Given the description of an element on the screen output the (x, y) to click on. 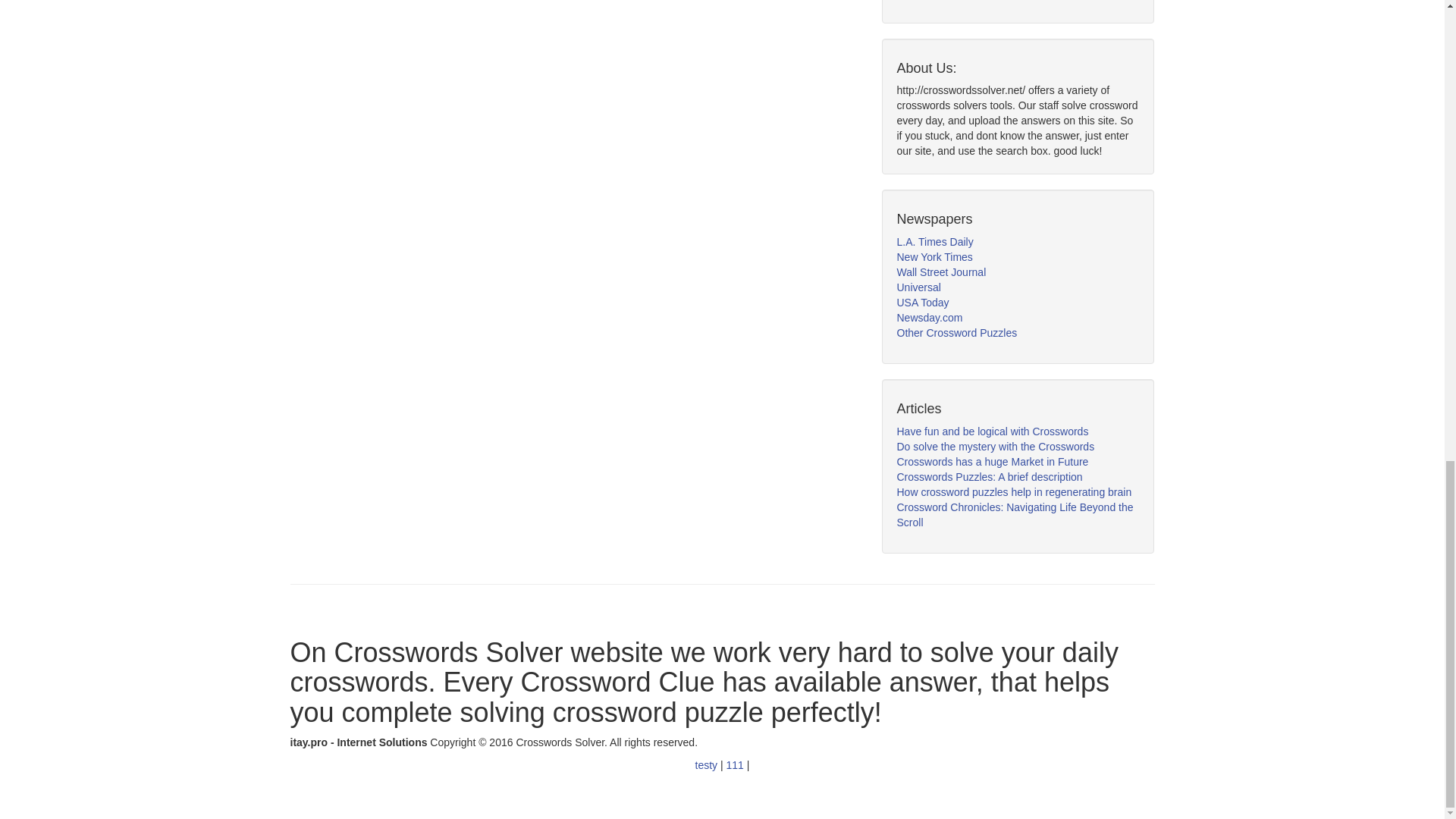
Crosswords Puzzles: A brief description (988, 476)
testy (707, 765)
Do solve the mystery with the Crosswords (995, 446)
Other Crossword Puzzles (956, 332)
How crossword puzzles help in regenerating brain (1013, 491)
Crosswords has a huge Market in Future (991, 461)
USA Today (922, 302)
Crossword Chronicles: Navigating Life Beyond the Scroll (1014, 514)
111 (736, 765)
Universal (918, 287)
Advertisement (1010, 2)
L.A. Times Daily (934, 241)
Newsday.com (929, 317)
New York Times (934, 256)
Have fun and be logical with Crosswords (991, 431)
